Given the description of an element on the screen output the (x, y) to click on. 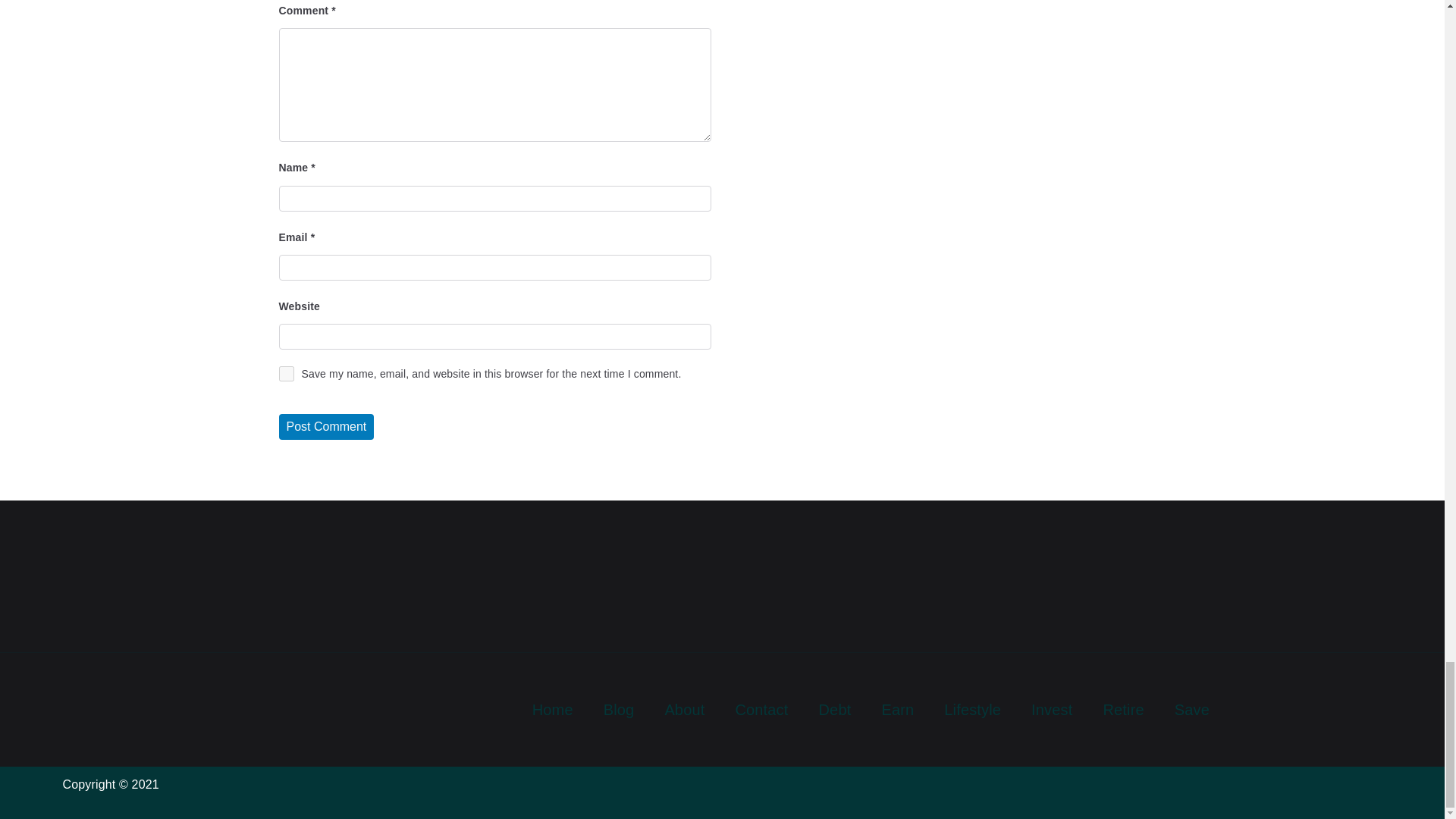
Post Comment (326, 426)
Post Comment (326, 426)
Home (552, 709)
yes (286, 373)
